Given the description of an element on the screen output the (x, y) to click on. 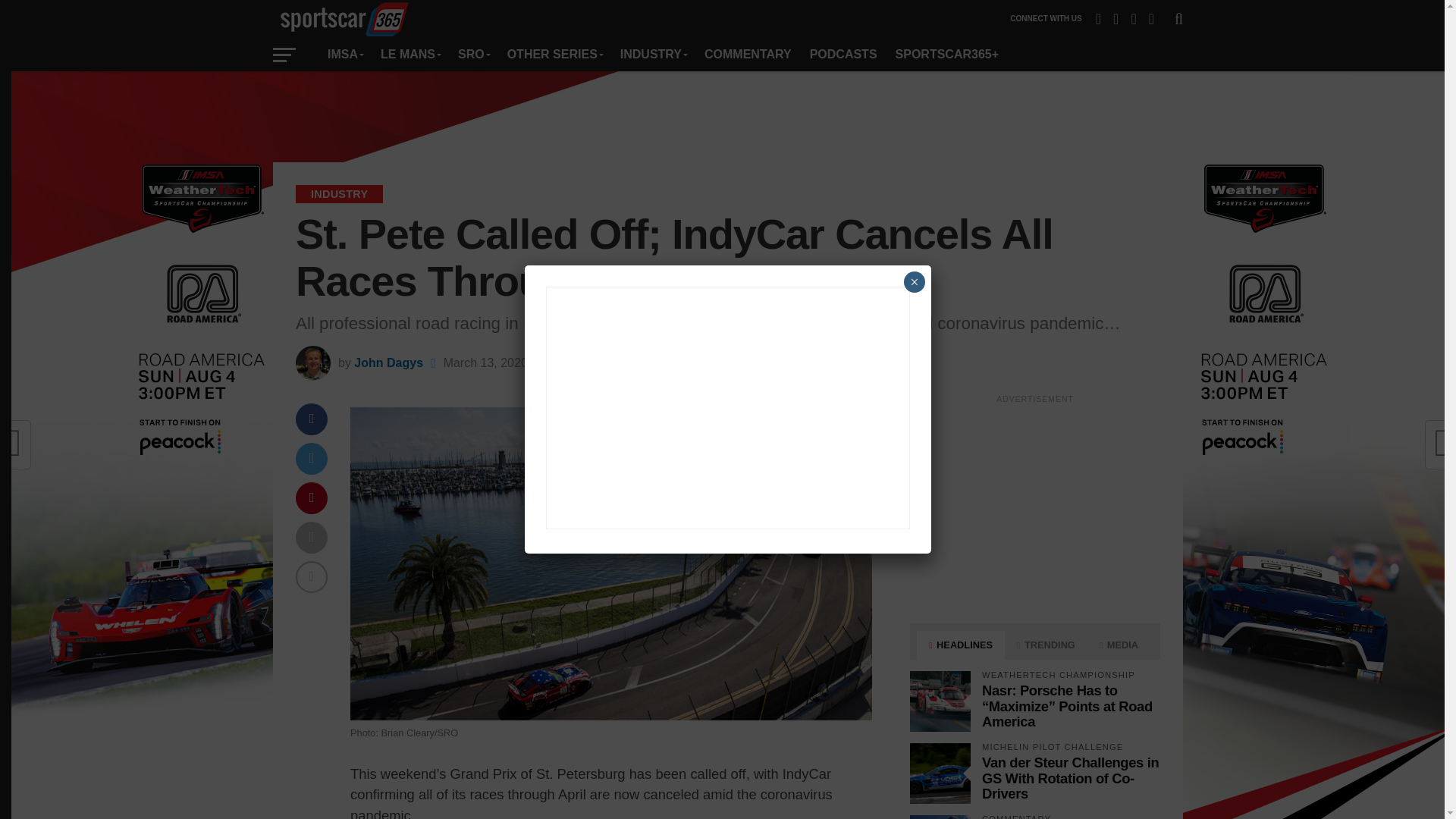
3rd party ad content (727, 116)
3rd party ad content (1034, 505)
Posts by John Dagys (388, 362)
